Given the description of an element on the screen output the (x, y) to click on. 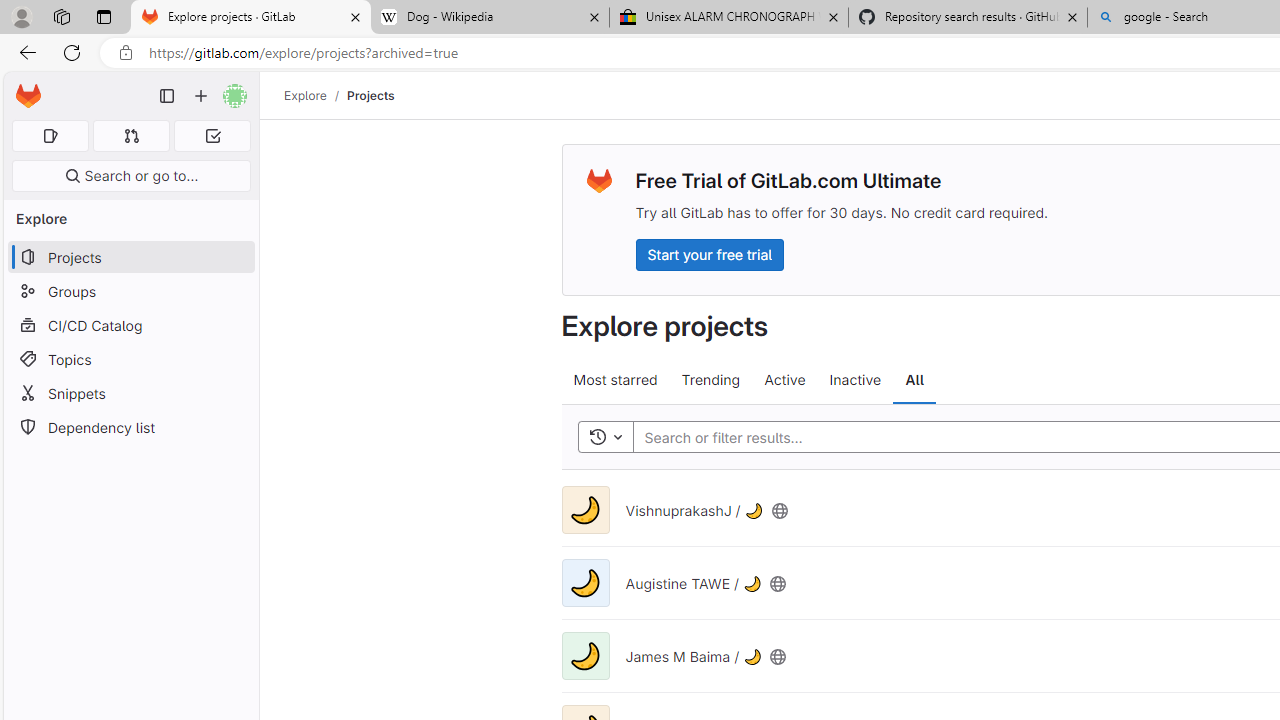
Dependency list (130, 427)
Active (784, 379)
All (914, 379)
Dog - Wikipedia (490, 17)
